Given the description of an element on the screen output the (x, y) to click on. 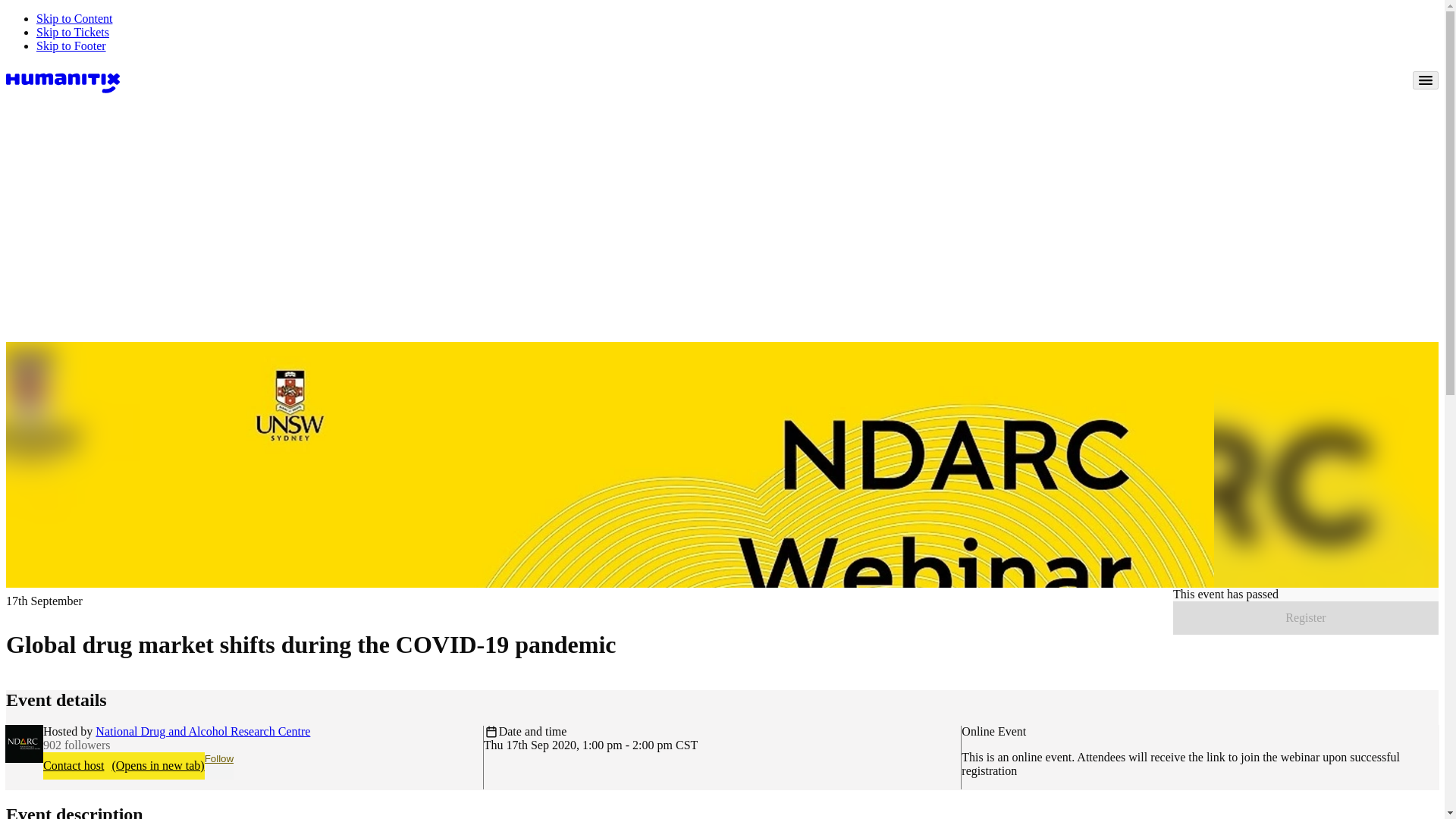
Skip to Footer (71, 45)
National Drug and Alcohol Research Centre (203, 730)
Skip to Content (74, 18)
Humanitix logo (62, 79)
Humanitix logo (62, 80)
Follow (219, 765)
Skip to Tickets (72, 31)
